Given the description of an element on the screen output the (x, y) to click on. 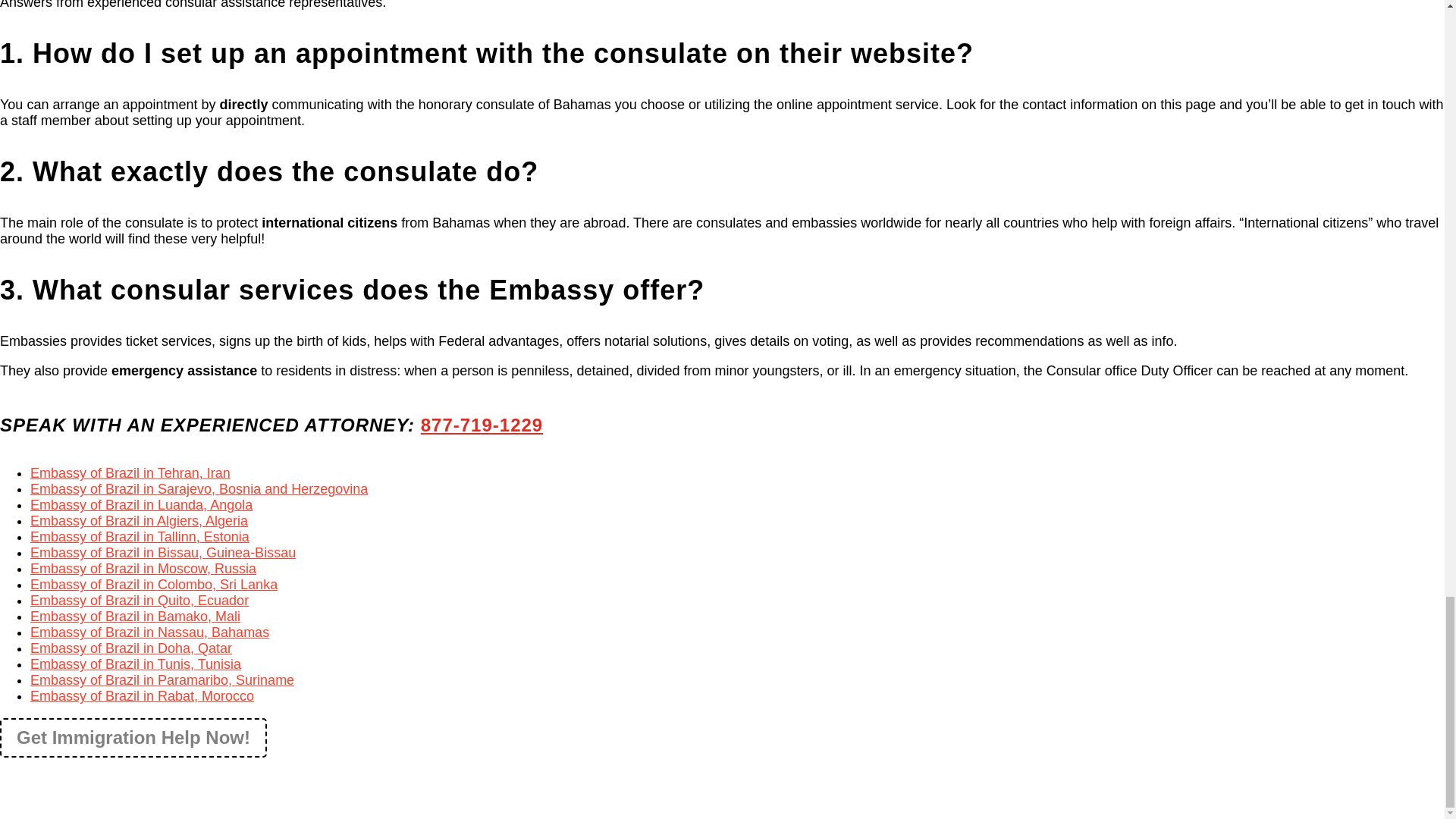
Embassy of Brazil in Sarajevo, Bosnia and Herzegovina (199, 488)
Embassy of Brazil in Luanda, Angola (140, 504)
877-719-1229 (481, 424)
Embassy of Brazil in Algiers, Algeria (138, 520)
Embassy of Brazil in Tehran, Iran (130, 473)
